Given the description of an element on the screen output the (x, y) to click on. 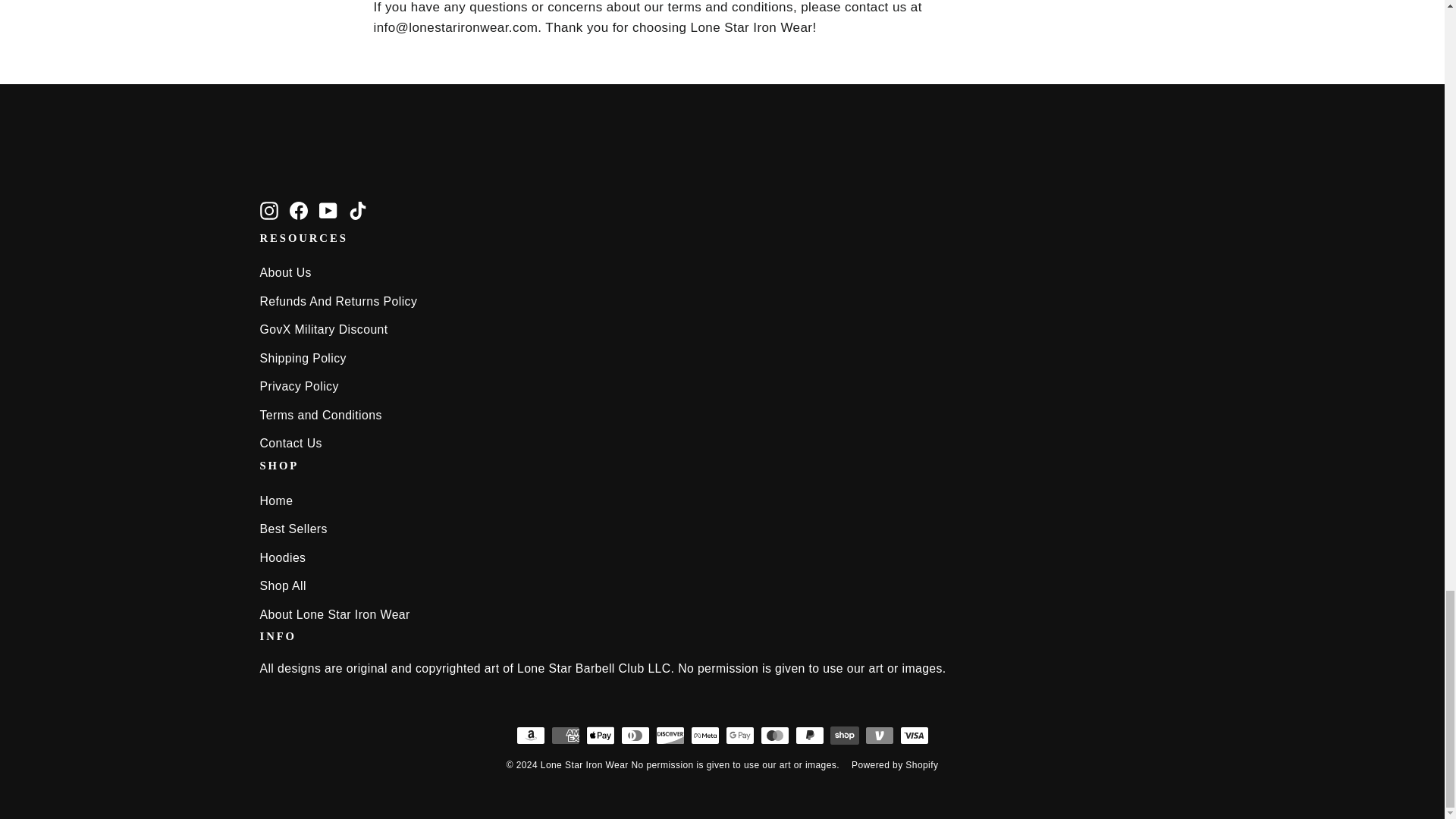
Apple Pay (599, 735)
Lone Star Iron Wear on TikTok (357, 209)
American Express (564, 735)
Diners Club (634, 735)
instagram (268, 210)
Mastercard (774, 735)
Discover (669, 735)
Shop Pay (844, 735)
Meta Pay (704, 735)
Venmo (878, 735)
